Given the description of an element on the screen output the (x, y) to click on. 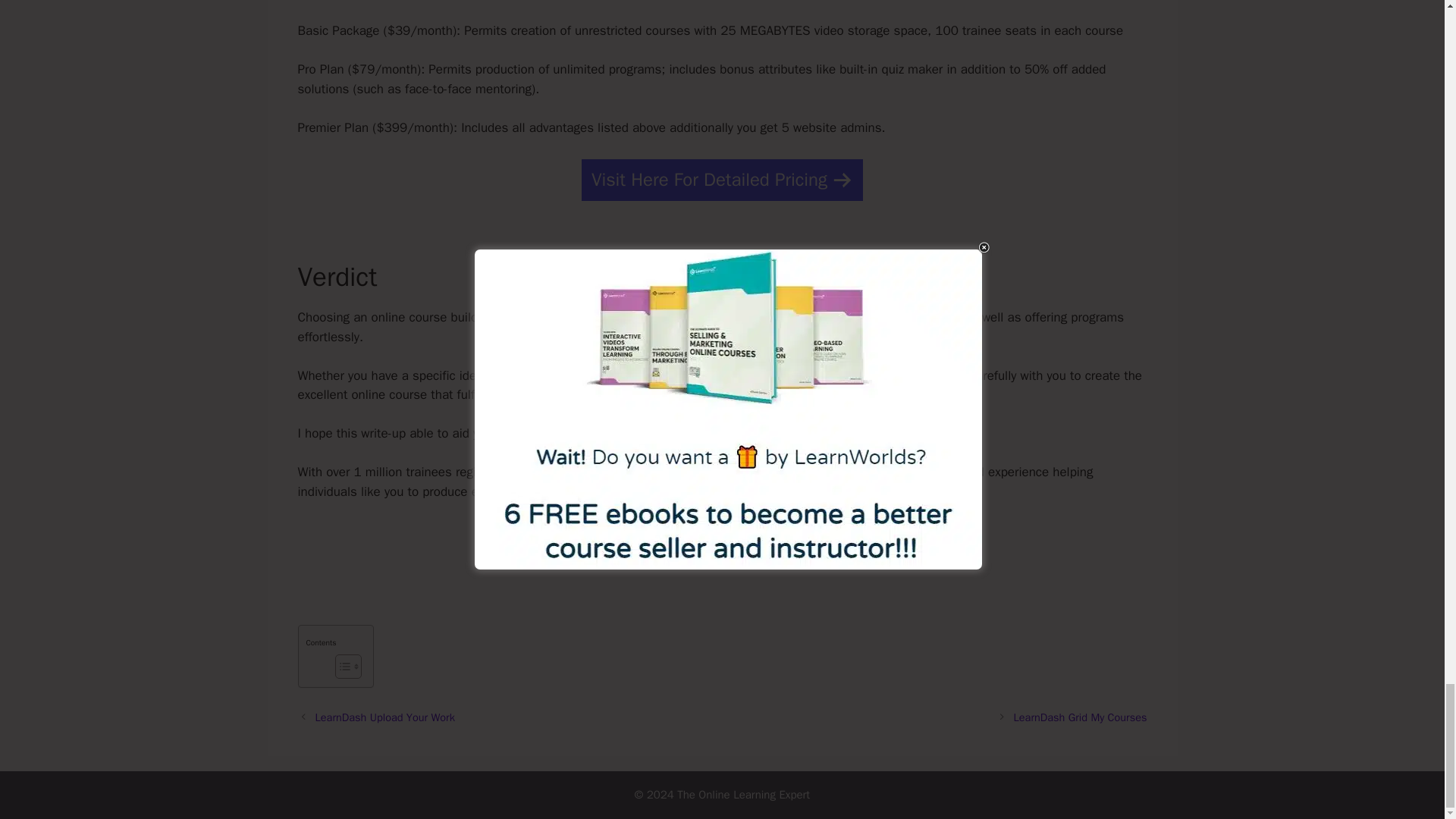
Thinkific platform (604, 471)
LearnDash Upload Your Work (384, 716)
LearnDash Grid My Courses (1080, 716)
Claim Your Thinkific Free Trial (722, 544)
your online program success (629, 317)
Visit Here For Detailed Pricing (721, 179)
